Given the description of an element on the screen output the (x, y) to click on. 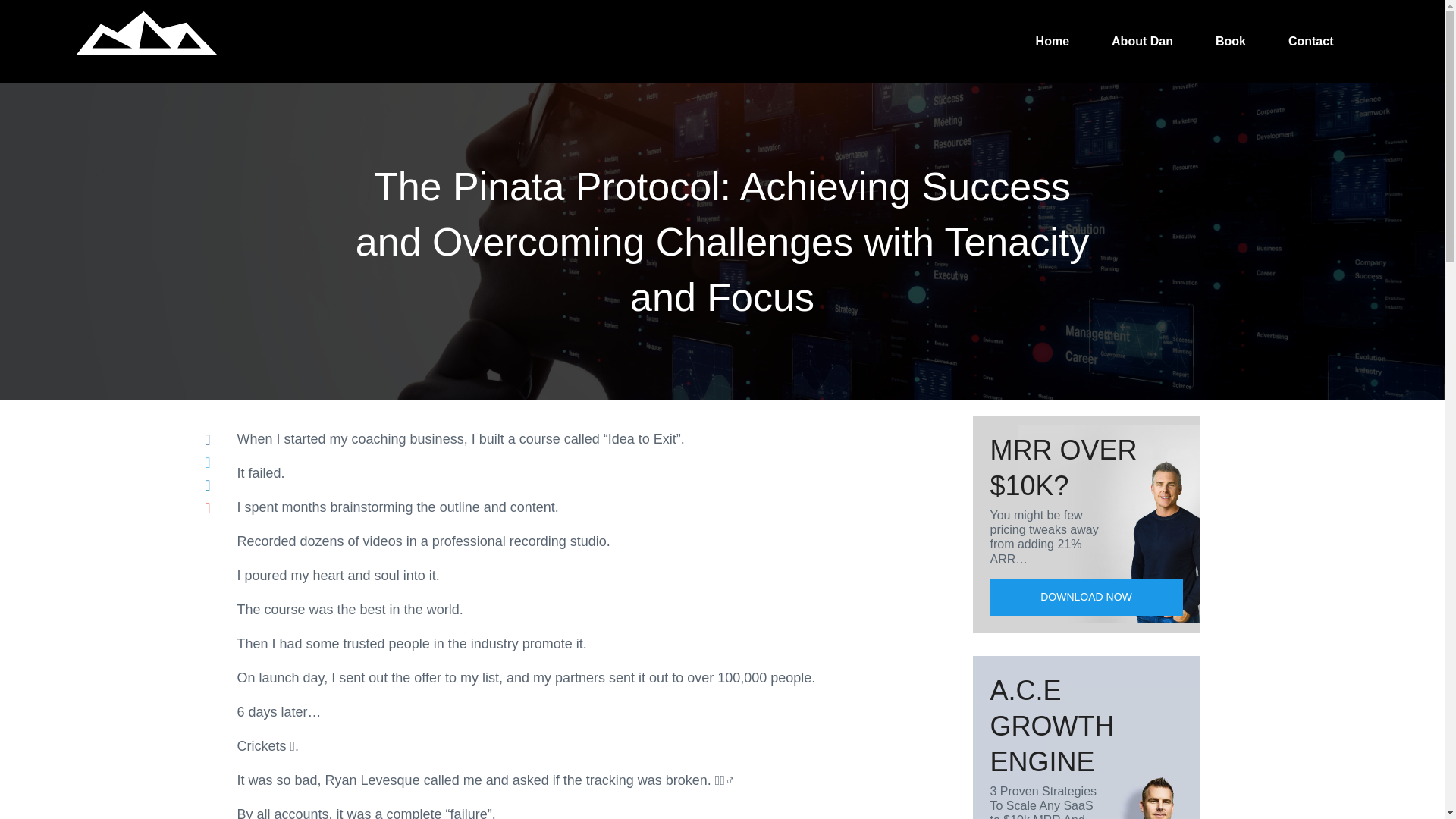
Book (1229, 41)
About Dan (1141, 41)
Contact (1310, 41)
Home (1052, 41)
